Given the description of an element on the screen output the (x, y) to click on. 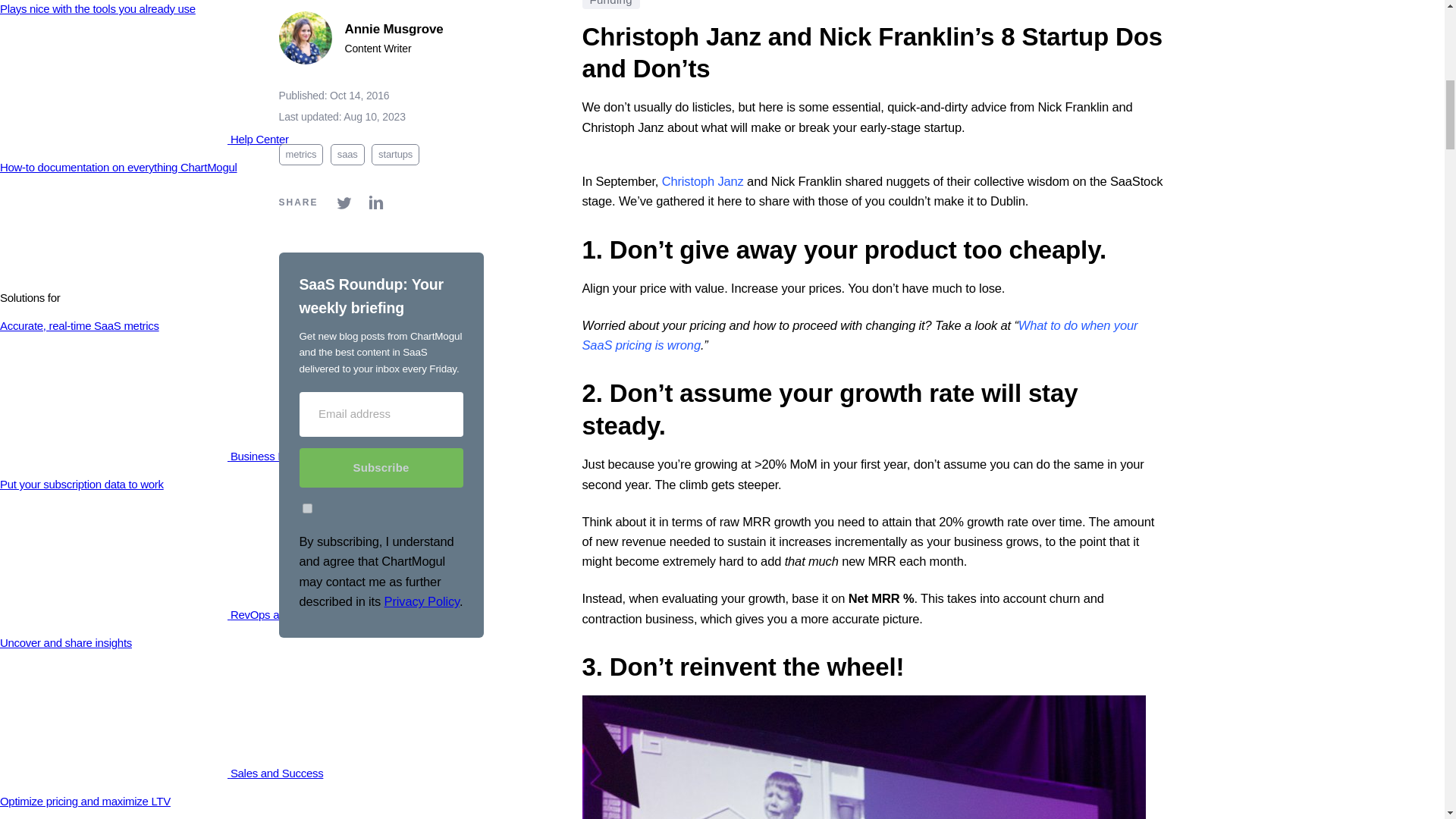
Funding (611, 4)
Share on Twitter (344, 192)
startups (395, 143)
metrics (301, 143)
Subscribe (380, 457)
Christoph Janz (703, 181)
What to do when your SaaS pricing is wrong (860, 335)
saas (347, 143)
